Given the description of an element on the screen output the (x, y) to click on. 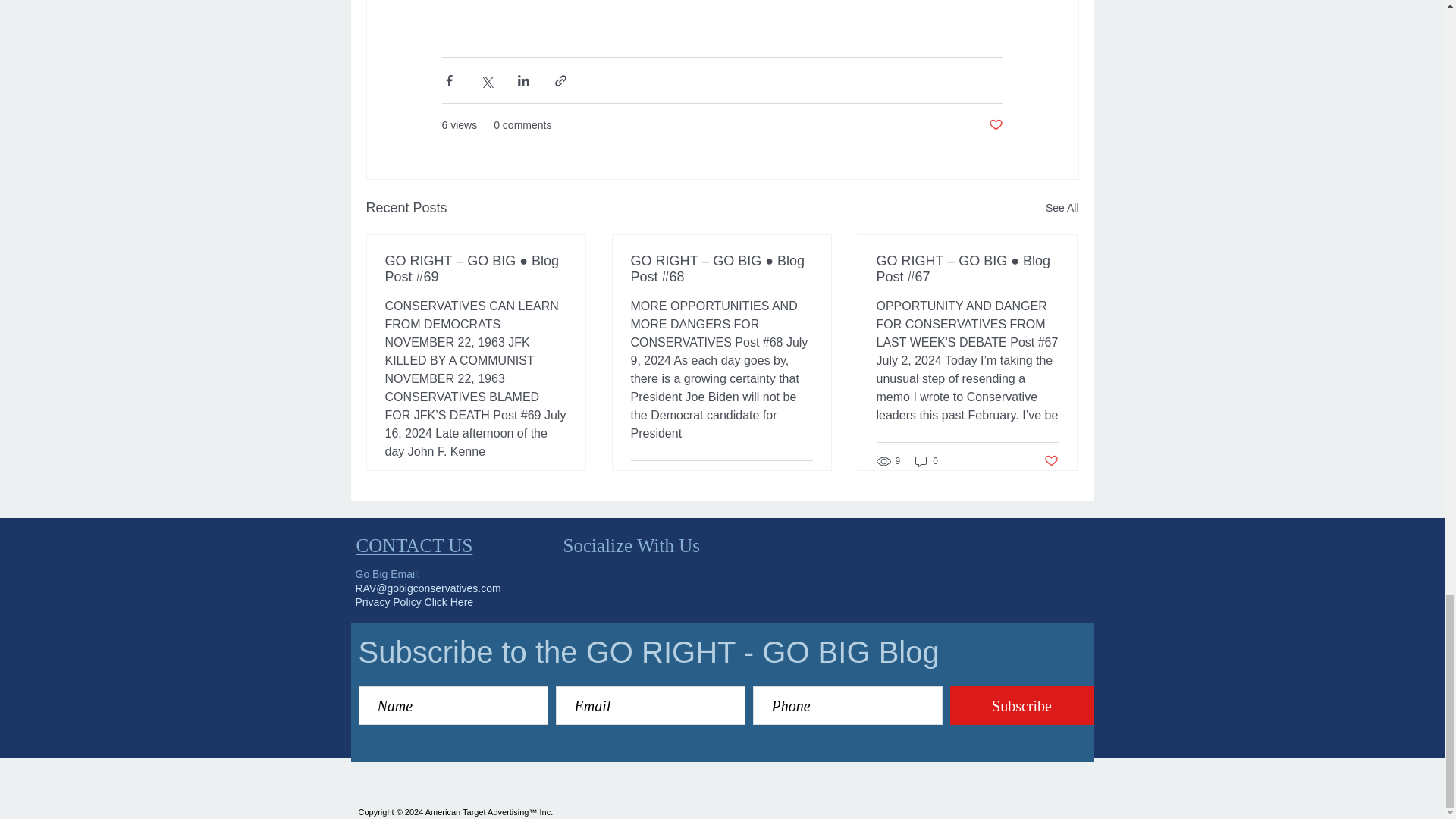
Post not marked as liked (1050, 461)
See All (1061, 208)
Click Here (449, 602)
Post not marked as liked (995, 125)
0 (926, 461)
